Given the description of an element on the screen output the (x, y) to click on. 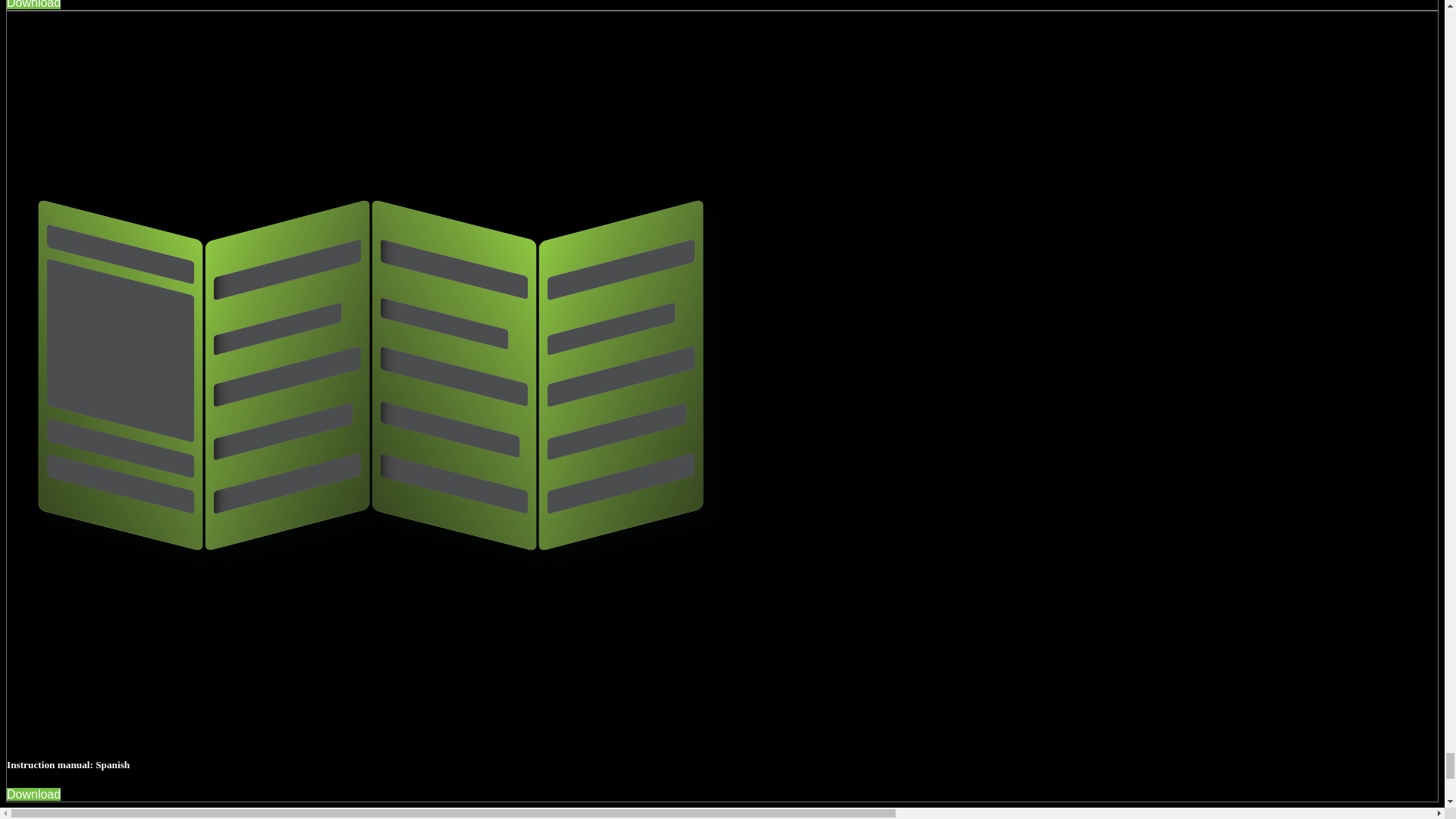
Download (34, 4)
Download (34, 793)
